Given the description of an element on the screen output the (x, y) to click on. 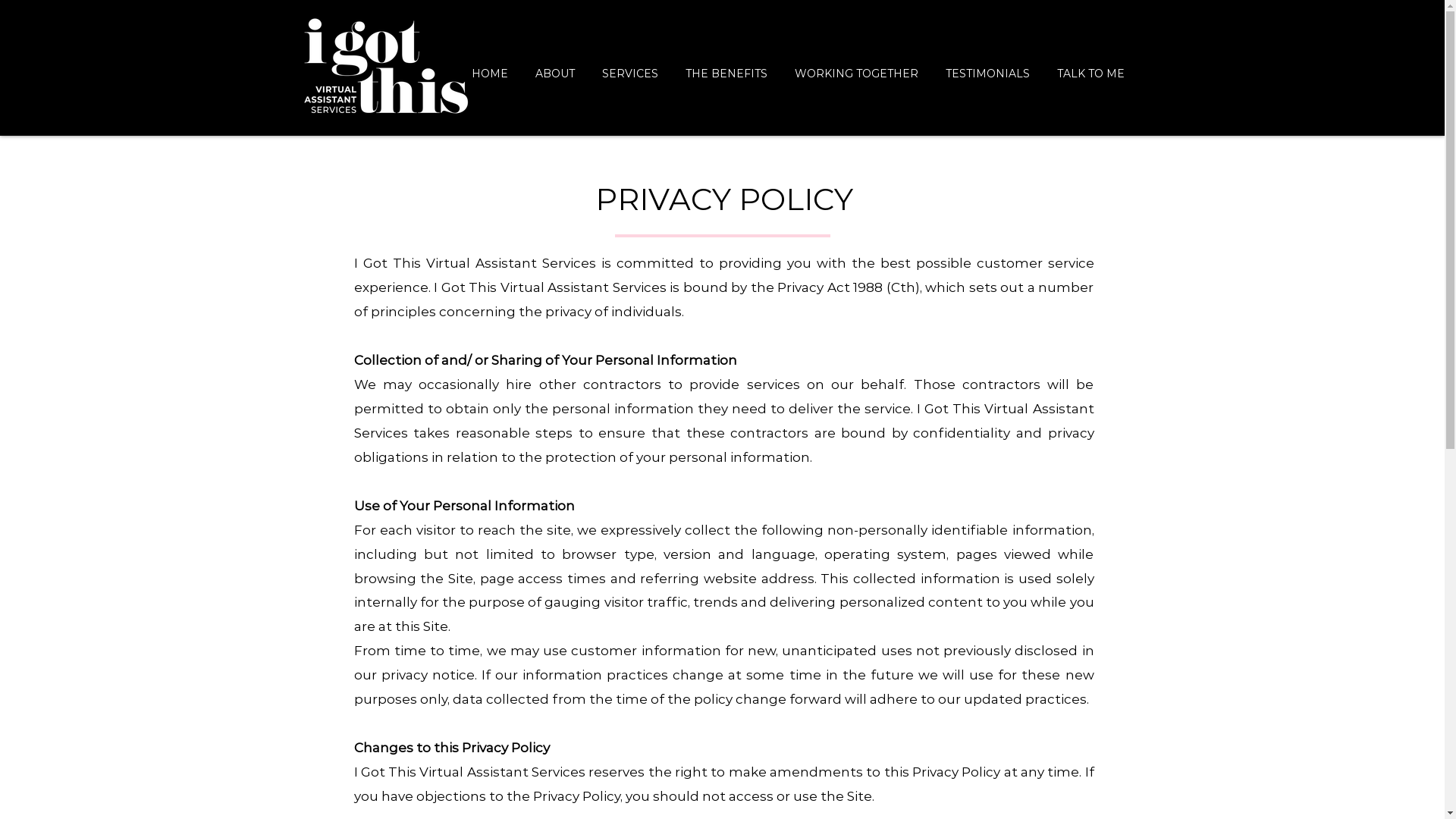
TALK TO ME Element type: text (1090, 66)
TESTIMONIALS Element type: text (986, 66)
ABOUT Element type: text (554, 66)
HOME Element type: text (489, 66)
THE BENEFITS Element type: text (726, 66)
SERVICES Element type: text (629, 66)
WORKING TOGETHER Element type: text (856, 66)
